Given the description of an element on the screen output the (x, y) to click on. 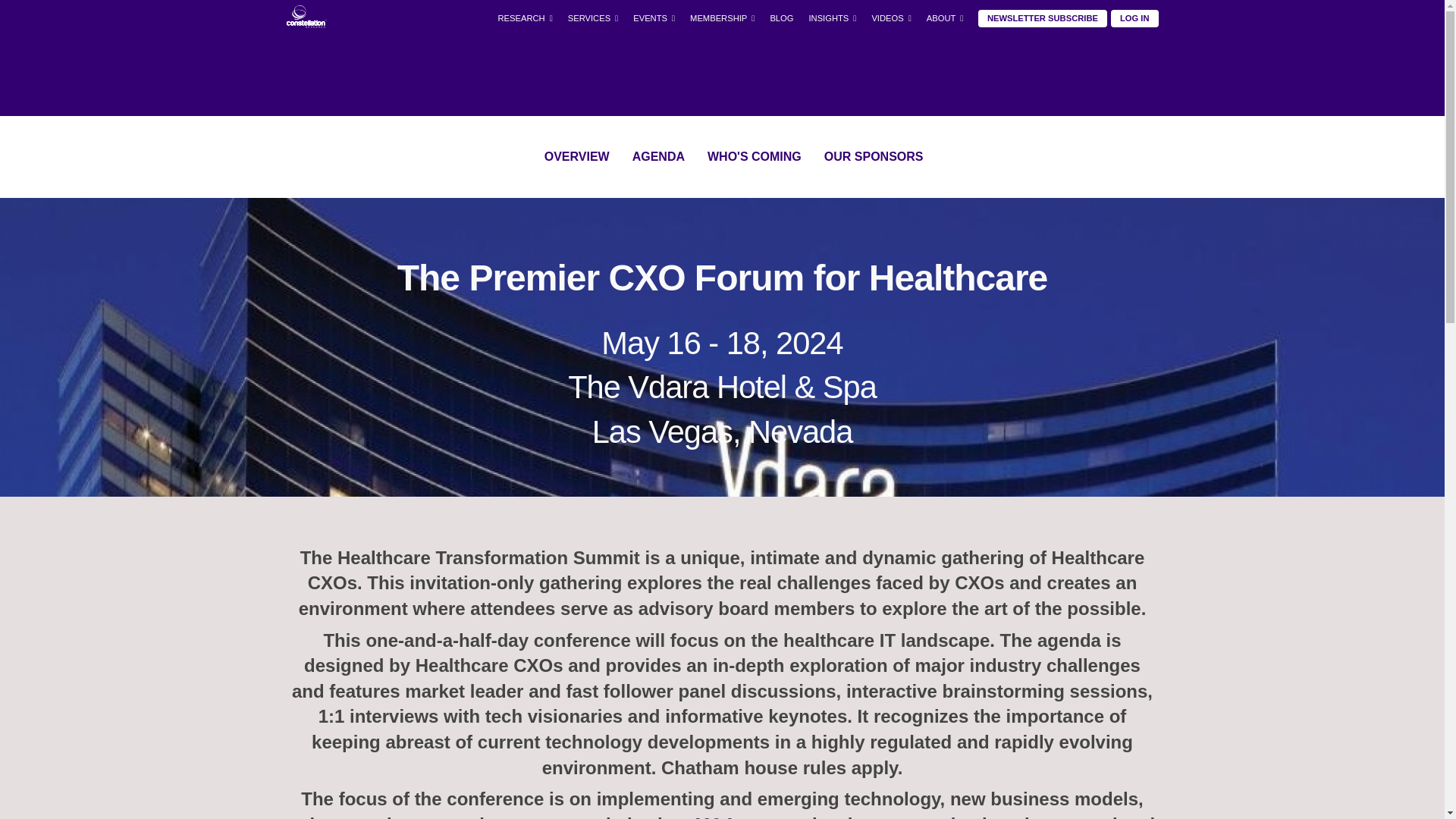
Constellation Executive Network membership (721, 18)
Research Library (524, 47)
Roles (524, 115)
Research Agenda (524, 217)
The Innovation Summit for the Enterprise (654, 115)
Research Policies (524, 252)
Analysts (524, 149)
Business Research Themes (524, 81)
Research Unlimited subscription (721, 81)
Research Services (524, 286)
RESEARCH (524, 18)
Actionable advice about developments in technology (831, 47)
Constellation research library (524, 47)
